Given the description of an element on the screen output the (x, y) to click on. 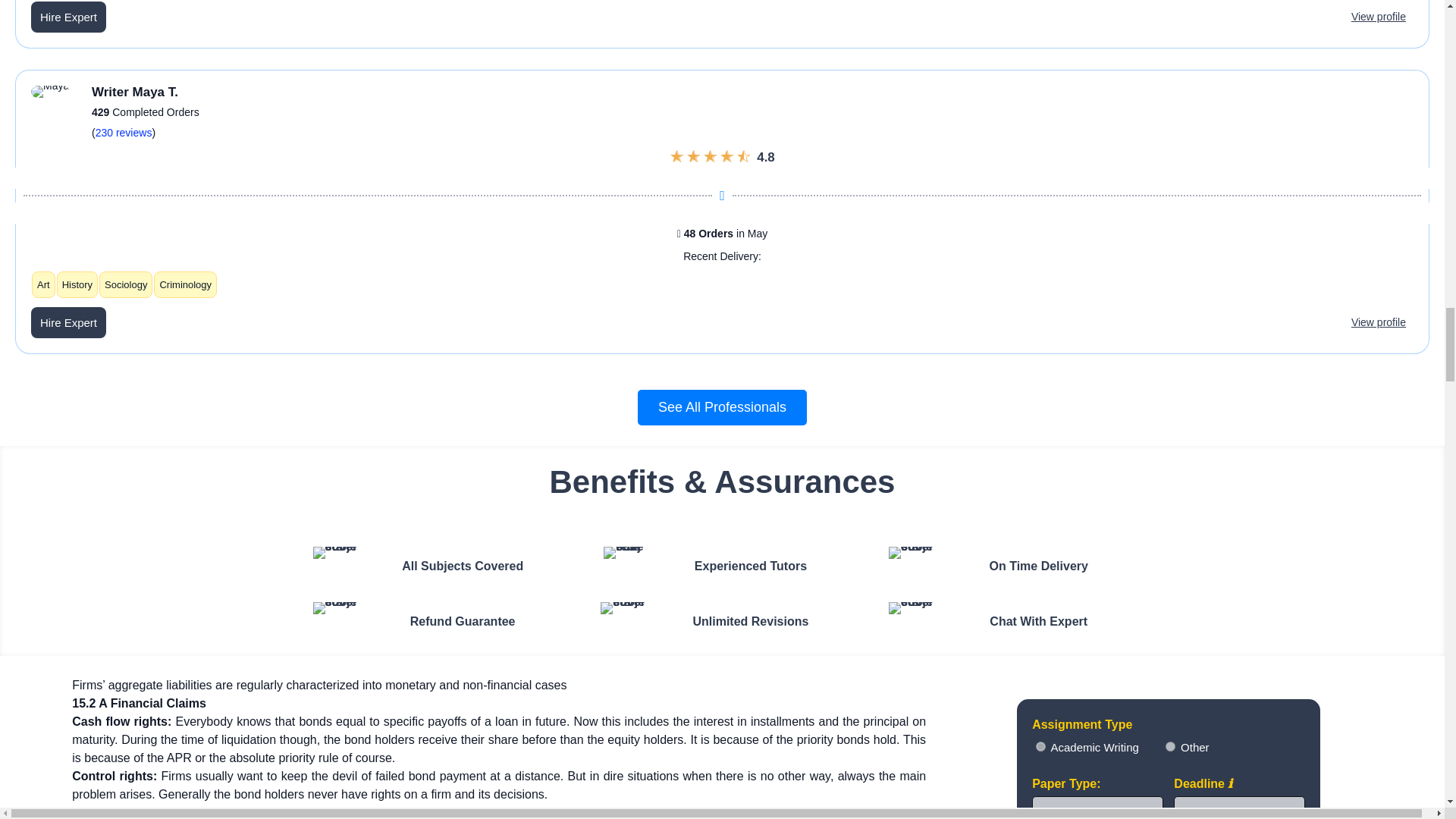
College (1170, 746)
High School (1040, 746)
